Given the description of an element on the screen output the (x, y) to click on. 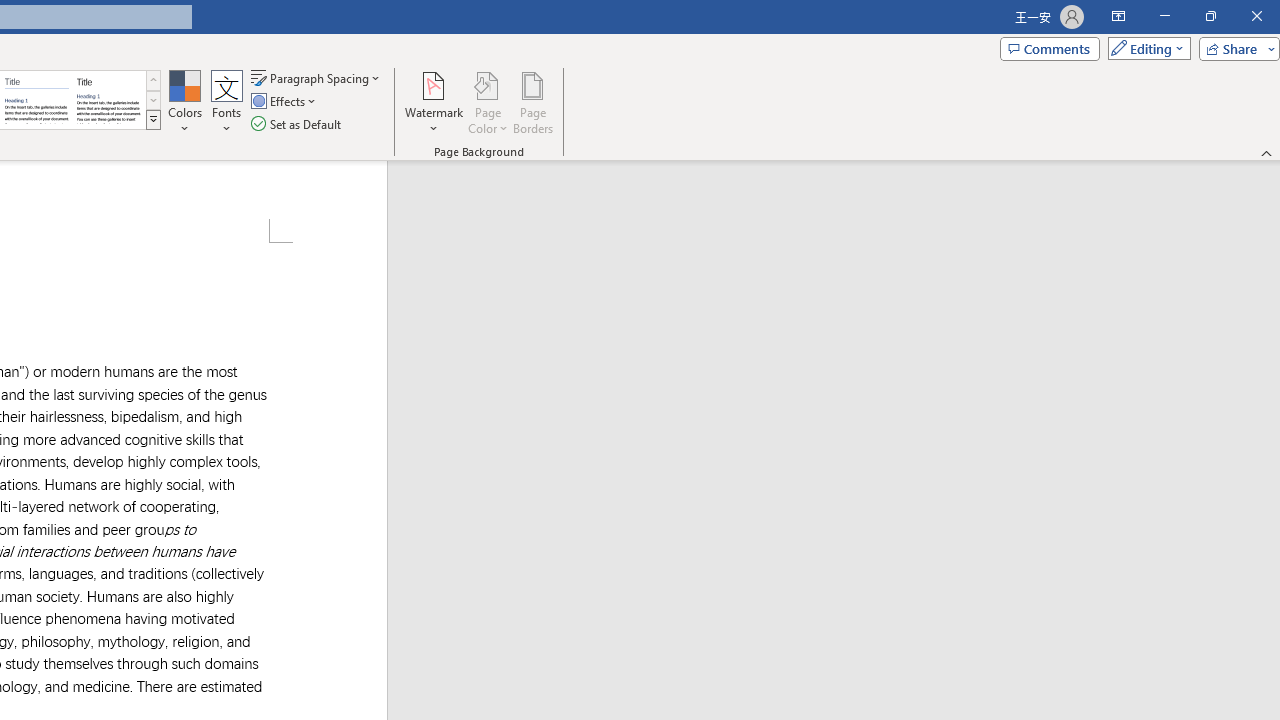
Restore Down (1210, 16)
Colors (184, 102)
Collapse the Ribbon (1267, 152)
Editing (1144, 47)
Class: NetUIImage (153, 119)
Word 2013 (108, 100)
Style Set (153, 120)
